Given the description of an element on the screen output the (x, y) to click on. 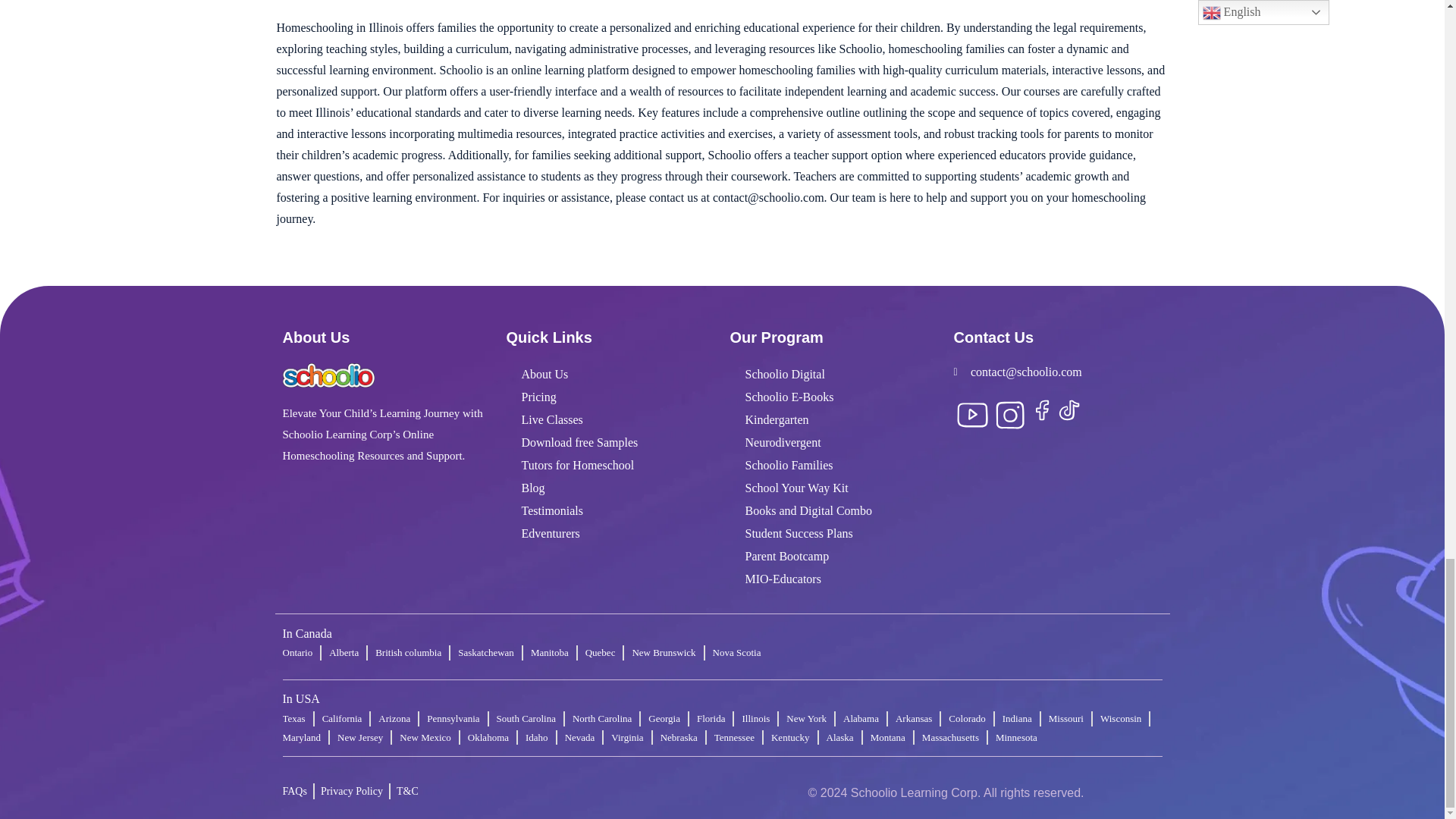
Pricing (610, 396)
Blog (610, 487)
About Us (610, 374)
Tutors for Homeschool (610, 465)
Download free Samples (610, 442)
Edventurers (610, 533)
Testimonials (610, 510)
Live Classes (610, 419)
